Given the description of an element on the screen output the (x, y) to click on. 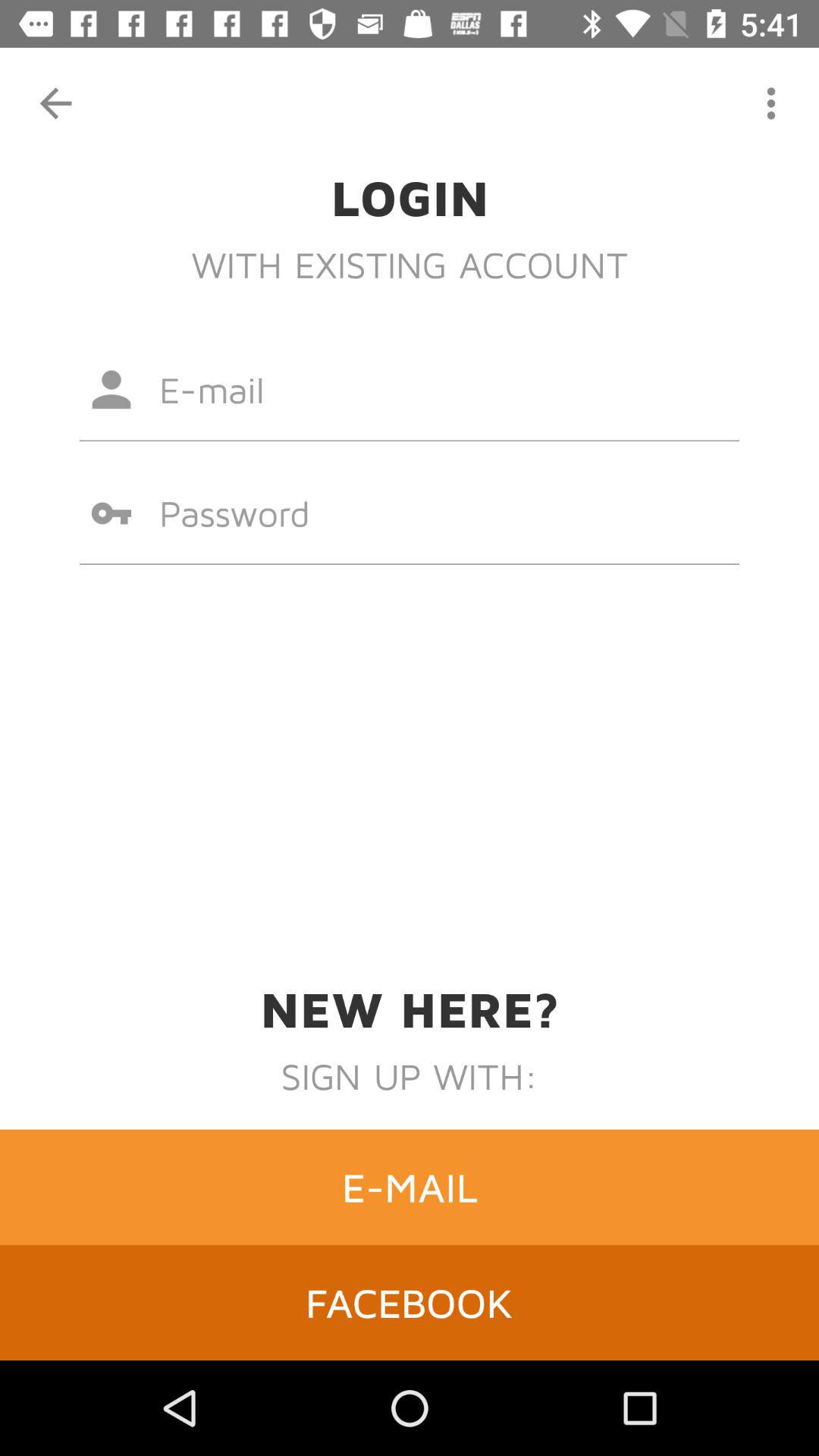
scroll until facebook (409, 1302)
